Given the description of an element on the screen output the (x, y) to click on. 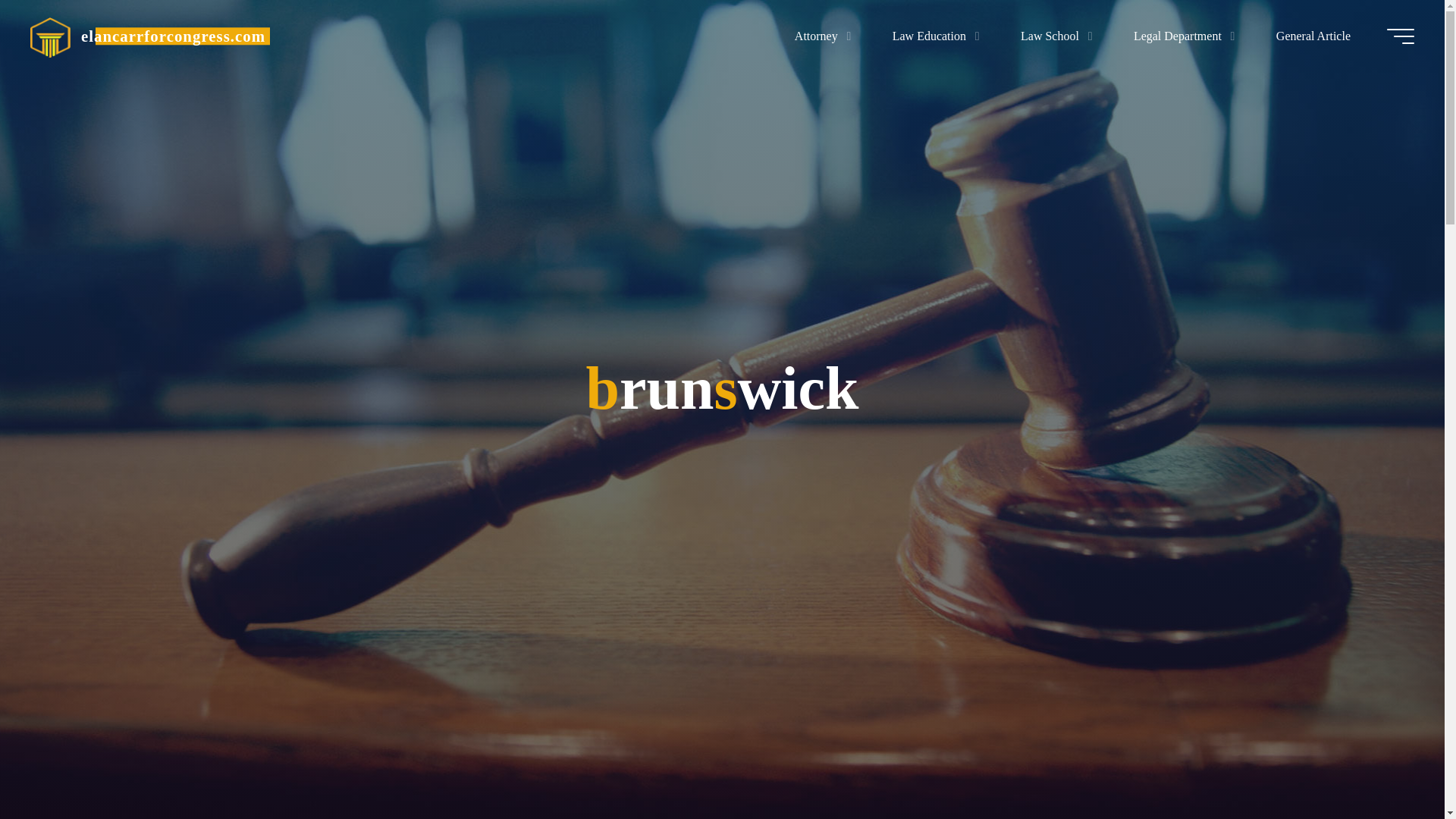
elancarrforcongress.com (173, 36)
Law For Education (173, 36)
Attorney (818, 35)
Read more (721, 724)
General Article (1313, 35)
Law Education (931, 35)
Legal Department (1180, 35)
Law School (1052, 35)
elancarrforcongress.com (49, 35)
